Given the description of an element on the screen output the (x, y) to click on. 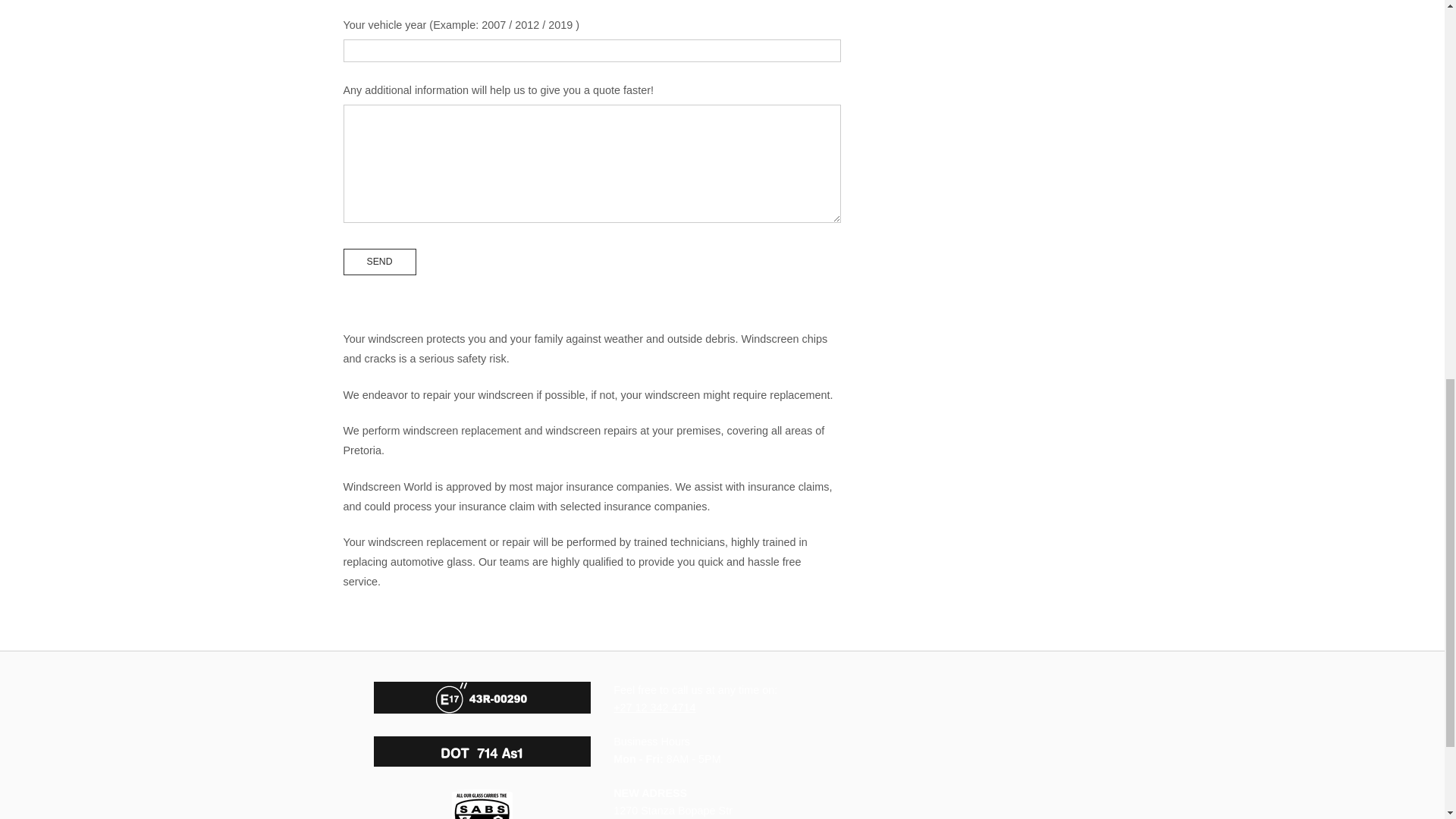
Send (378, 261)
Send (378, 261)
euro w (482, 697)
